Given the description of an element on the screen output the (x, y) to click on. 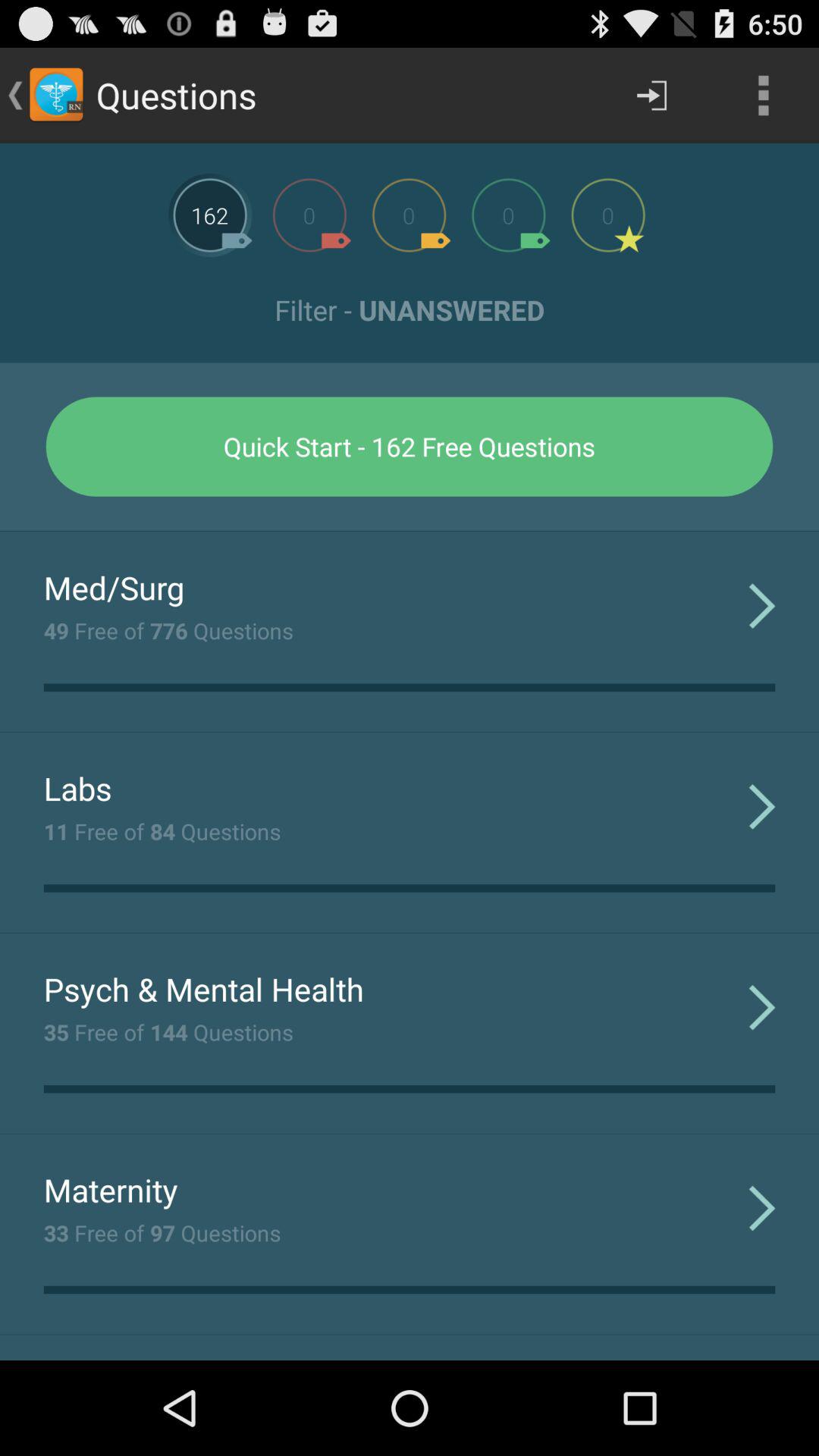
more questions (409, 215)
